Given the description of an element on the screen output the (x, y) to click on. 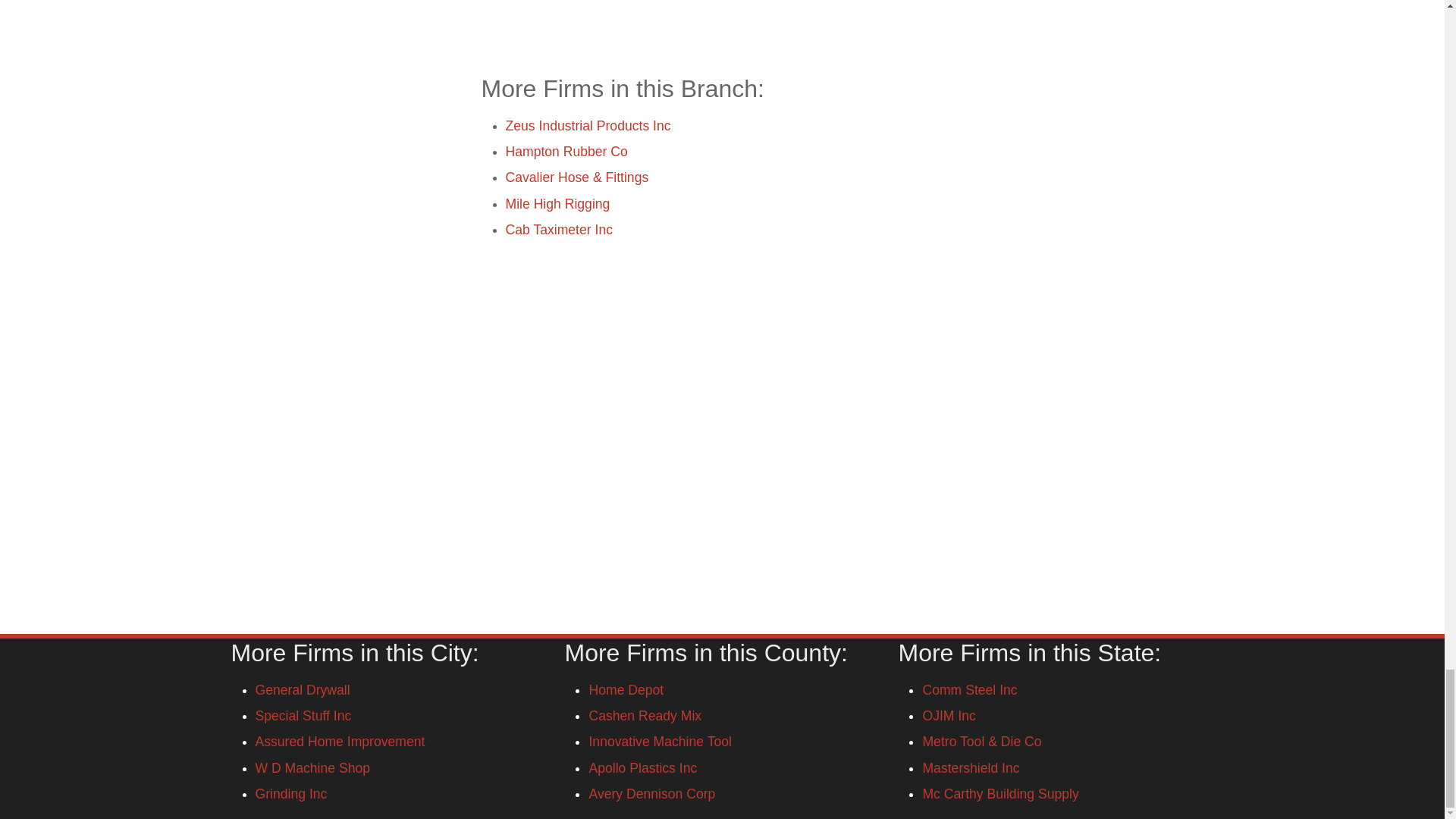
Zeus Industrial Products Inc (587, 125)
Hampton Rubber Co (566, 151)
Cab Taximeter Inc (558, 229)
Mile High Rigging (557, 203)
